Given the description of an element on the screen output the (x, y) to click on. 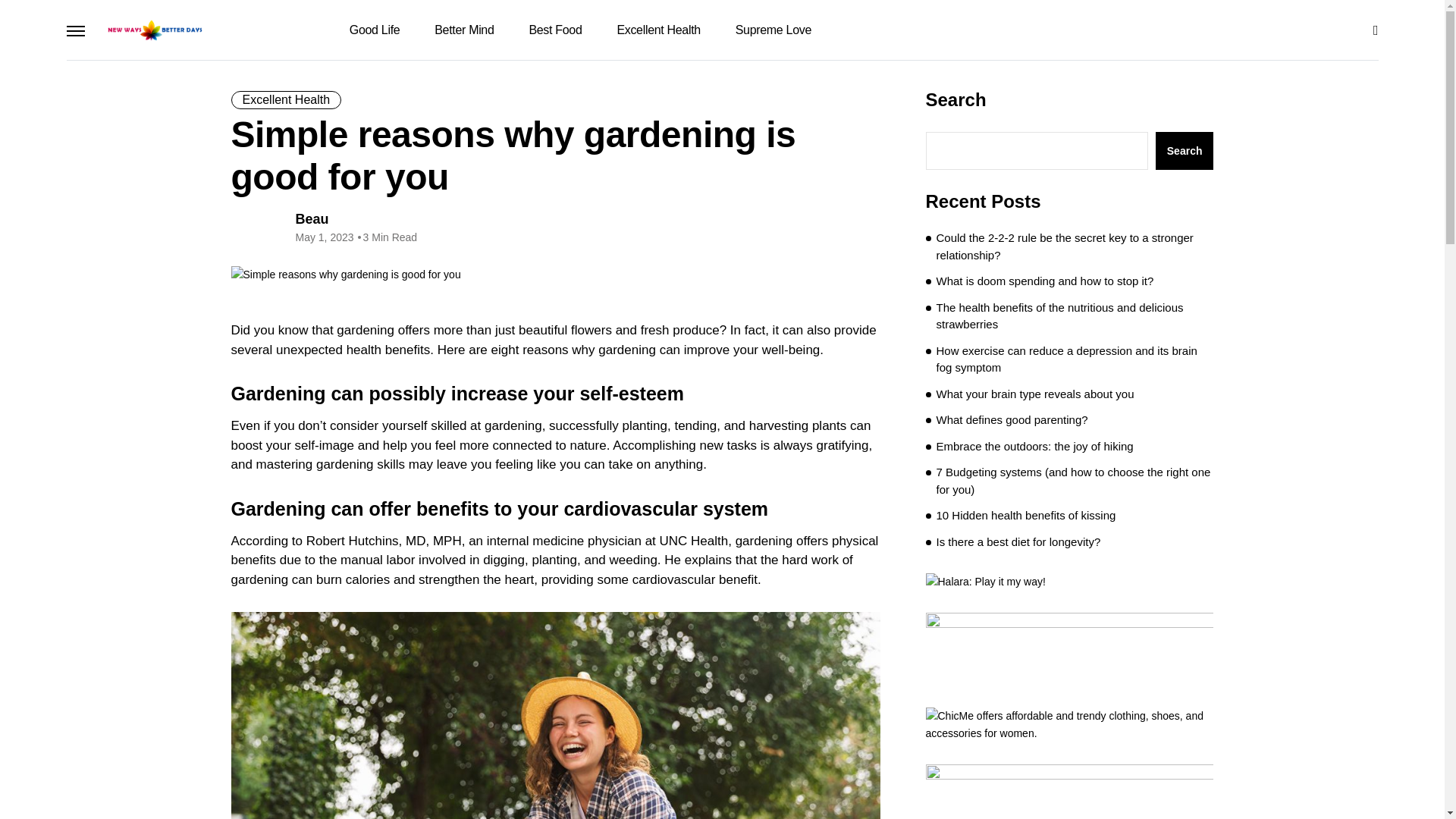
Search (1185, 150)
Excellent Health (285, 99)
Supreme Love (771, 30)
Is there a best diet for longevity? (1018, 542)
Better Mind (464, 30)
What is doom spending and how to stop it? (1044, 281)
What defines good parenting? (1011, 420)
Best Food (554, 30)
10 Hidden health benefits of kissing (1025, 515)
Excellent Health (657, 30)
Good Life (374, 30)
Embrace the outdoors: the joy of hiking (1034, 446)
